Given the description of an element on the screen output the (x, y) to click on. 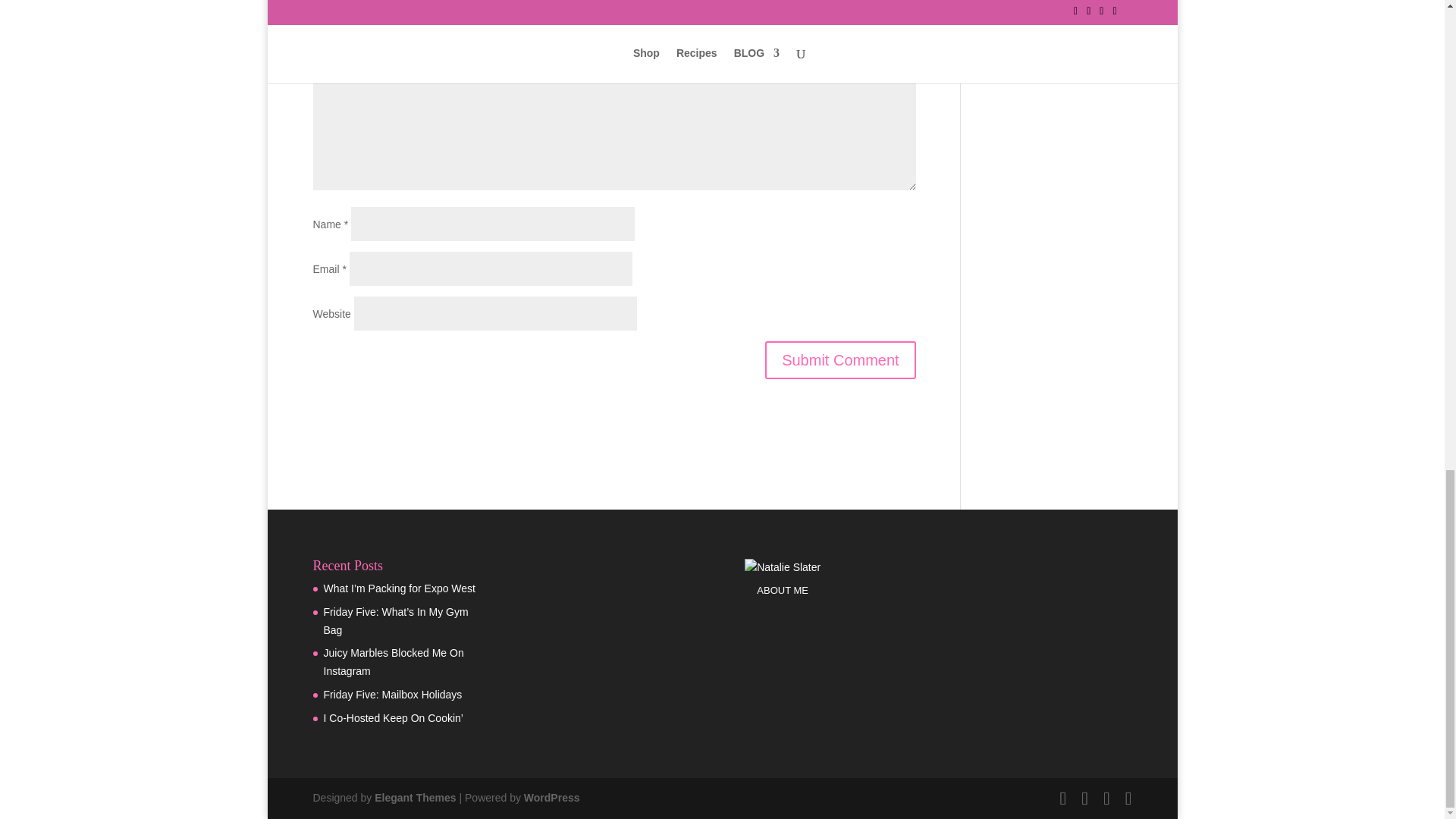
ABOUT ME (782, 590)
Friday Five: Mailbox Holidays (392, 694)
Premium WordPress Themes (414, 797)
Submit Comment (840, 360)
Juicy Marbles Blocked Me On Instagram (393, 662)
Submit Comment (840, 360)
